Given the description of an element on the screen output the (x, y) to click on. 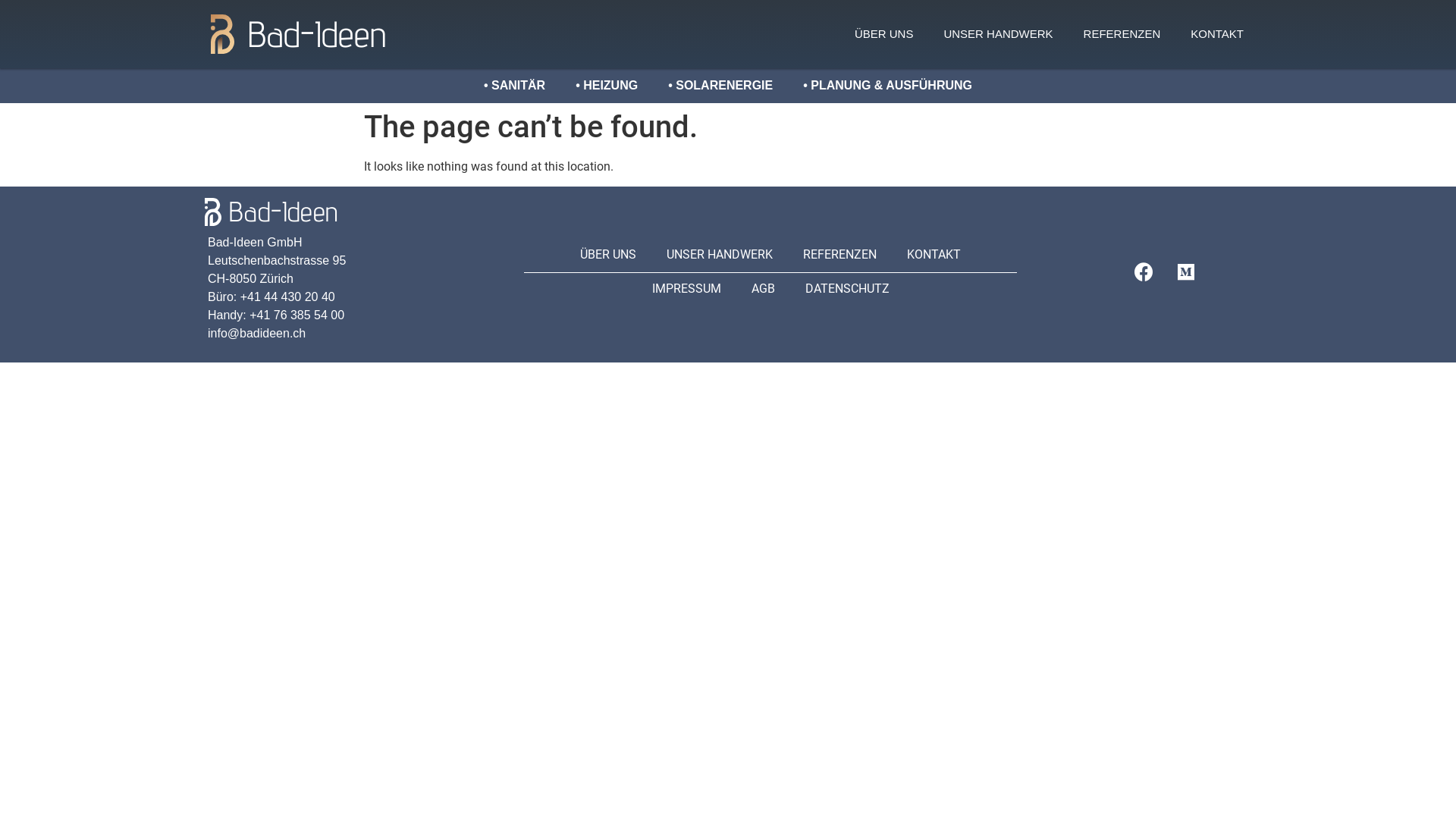
Bad-Ideen Element type: text (316, 33)
DATENSCHUTZ Element type: text (847, 288)
REFERENZEN Element type: text (839, 254)
UNSER HANDWERK Element type: text (719, 254)
KONTAKT Element type: text (1216, 34)
REFERENZEN Element type: text (1122, 34)
info@badideen.ch Element type: text (256, 332)
AGB Element type: text (762, 288)
KONTAKT Element type: text (933, 254)
IMPRESSUM Element type: text (686, 288)
BI Symbol Color Element type: hover (222, 33)
UNSER HANDWERK Element type: text (997, 34)
